Given the description of an element on the screen output the (x, y) to click on. 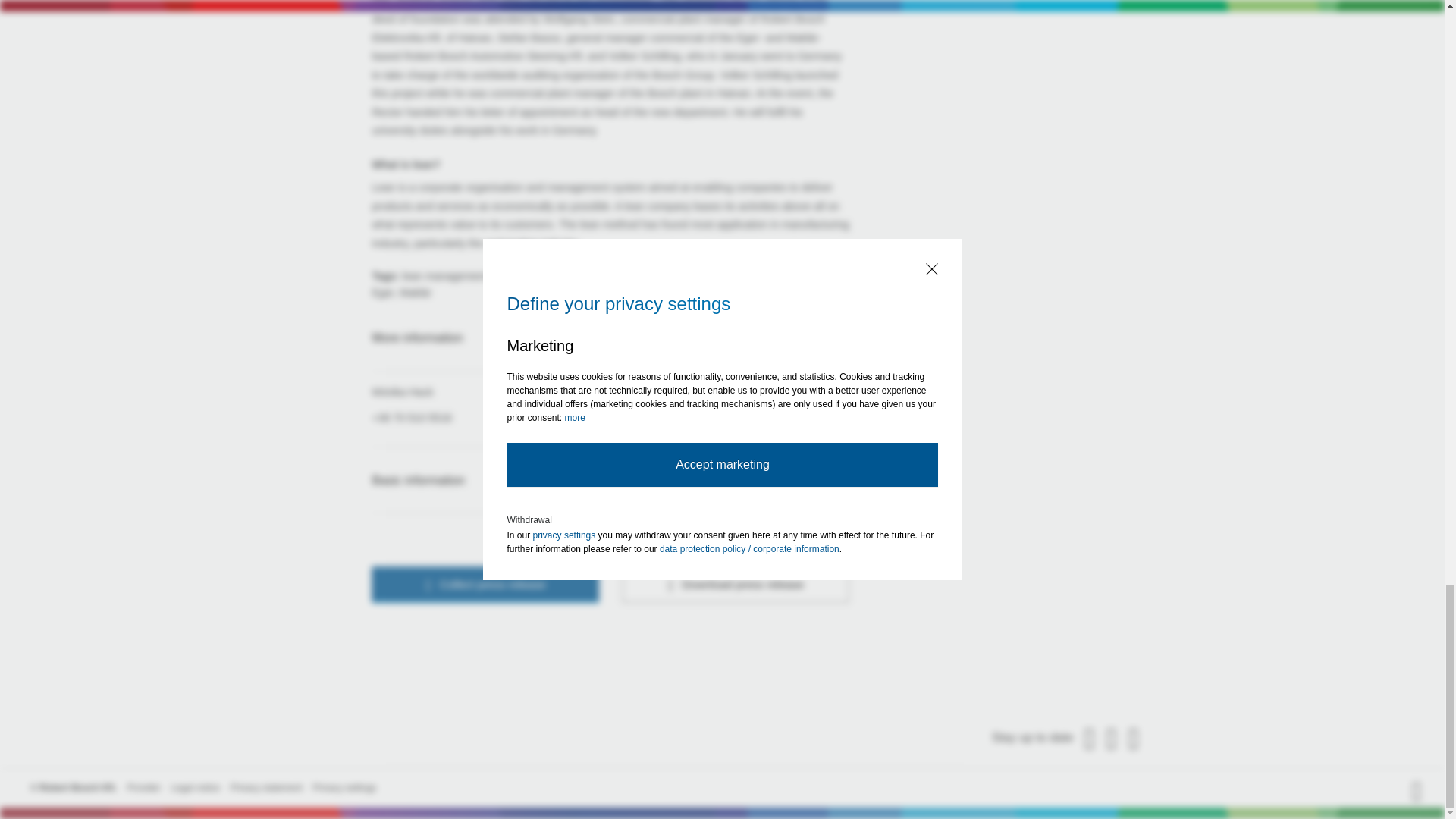
Basic information (609, 480)
Download press release (734, 584)
More information (609, 337)
Collect press release (484, 584)
